Given the description of an element on the screen output the (x, y) to click on. 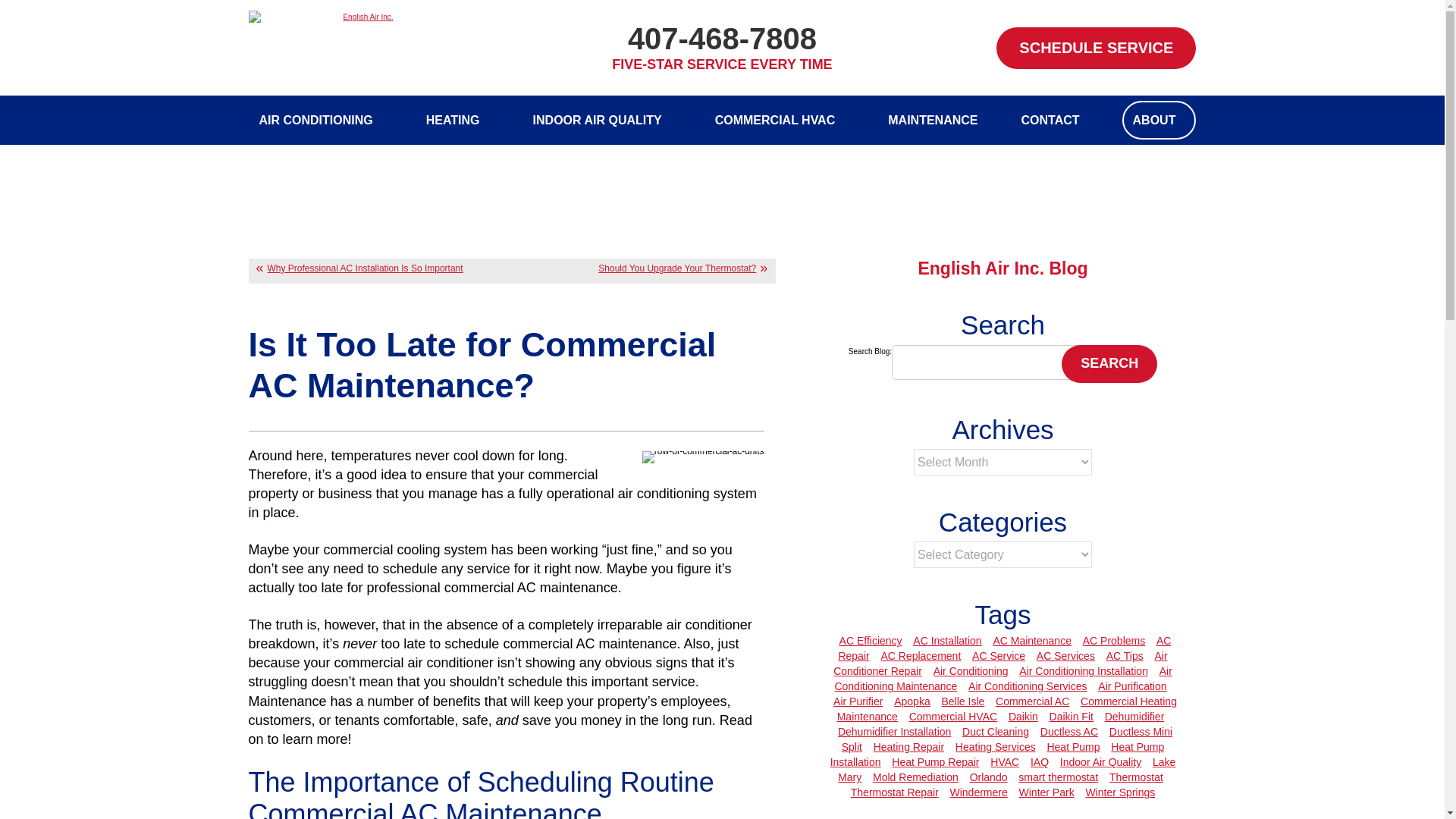
AIR CONDITIONING (320, 119)
INDOOR AIR QUALITY (602, 119)
HEATING (457, 119)
407-468-7808 (721, 38)
SCHEDULE SERVICE (1095, 47)
